Given the description of an element on the screen output the (x, y) to click on. 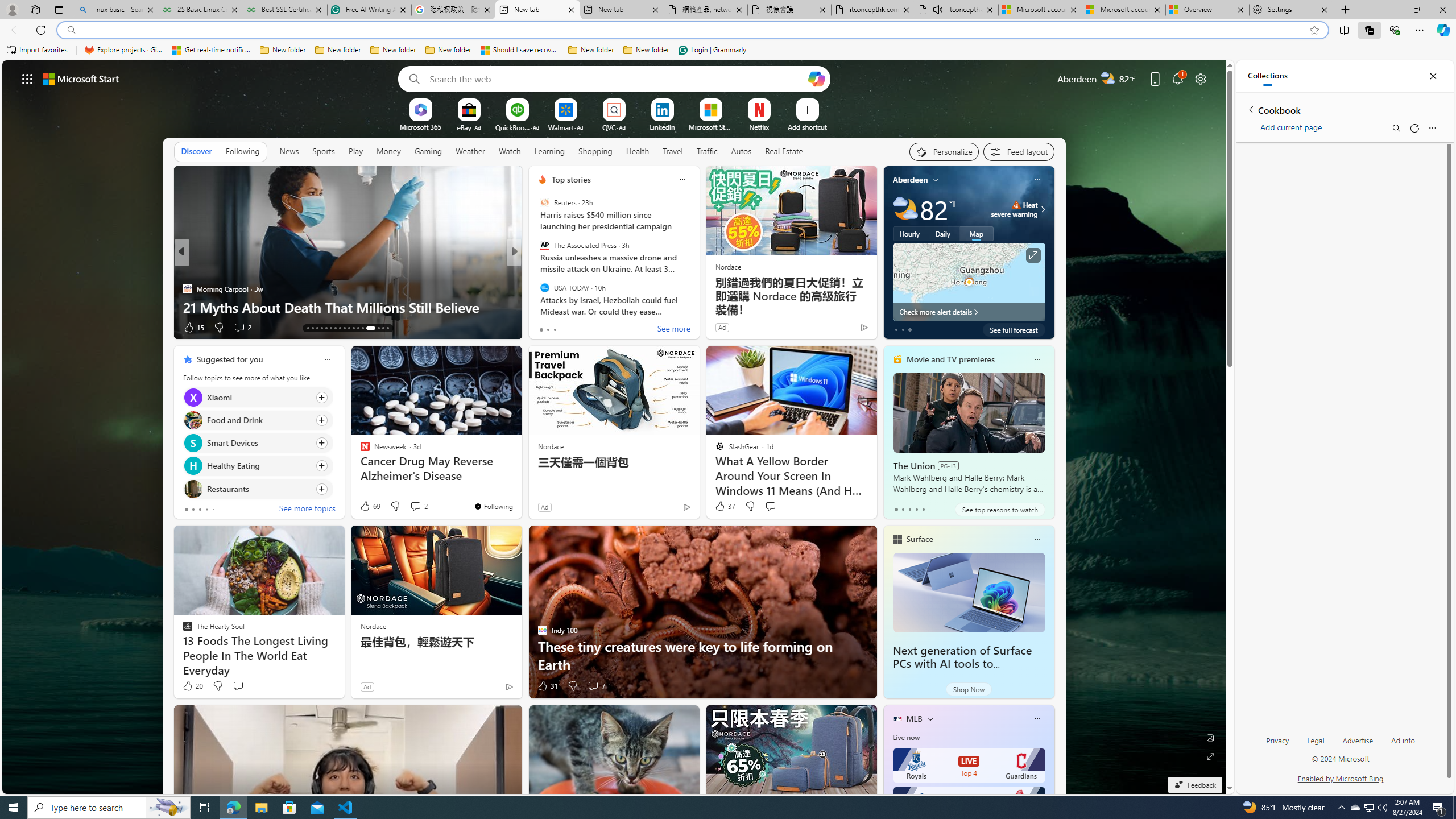
Health (637, 151)
Netflix (758, 126)
View comments 7 Comment (592, 685)
IT Concept (198, 288)
Should I save recovered Word documents? - Microsoft Support (519, 49)
AutomationID: tab-19 (335, 328)
Partly cloudy (904, 208)
Real Simple (537, 288)
Reuters (544, 202)
Feed settings (1018, 151)
Money (387, 151)
